Given the description of an element on the screen output the (x, y) to click on. 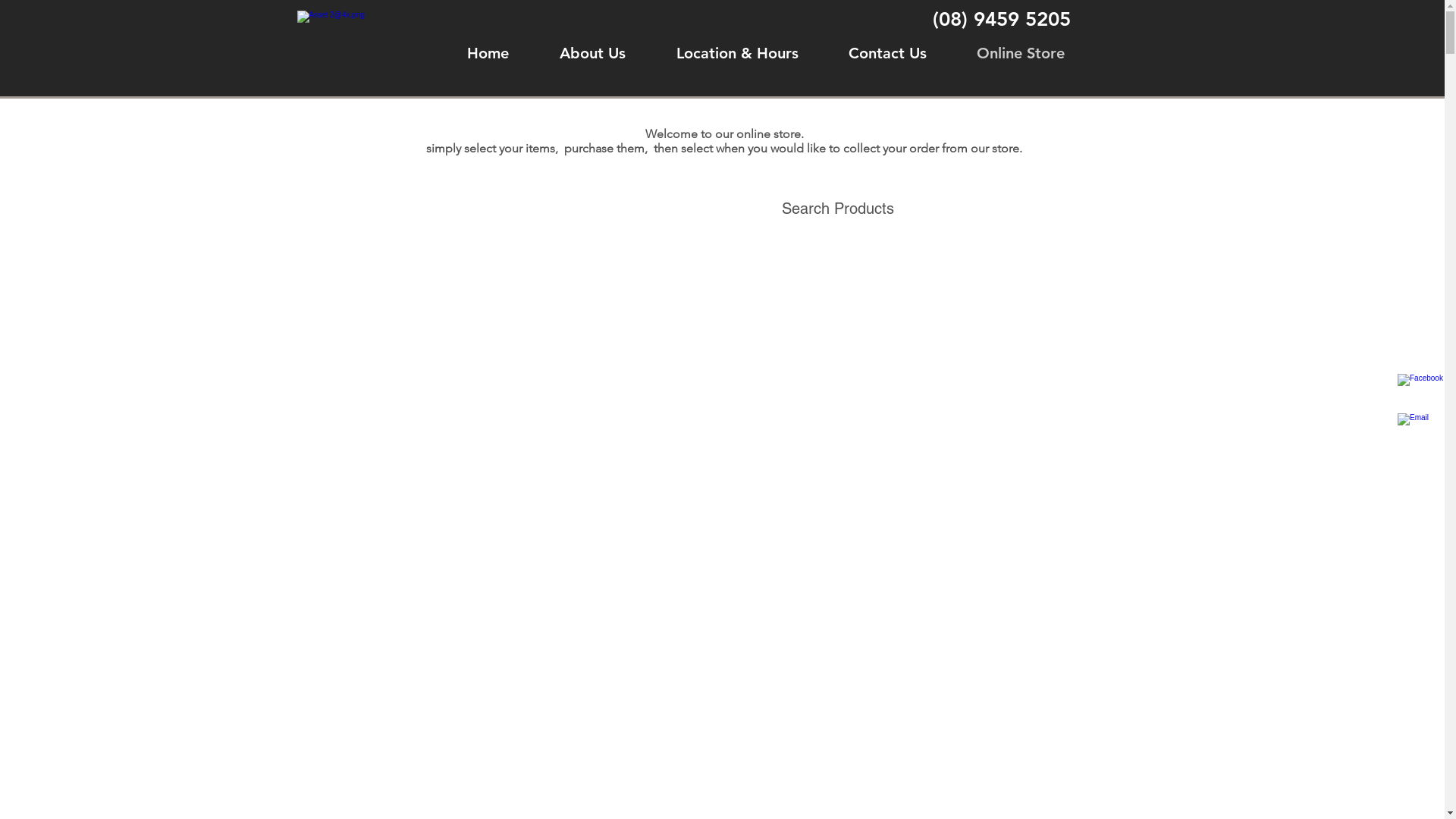
Online Store Element type: text (1019, 53)
Home Element type: text (487, 53)
About Us Element type: text (591, 53)
Location & Hours Element type: text (736, 53)
Contact Us Element type: text (887, 53)
